Given the description of an element on the screen output the (x, y) to click on. 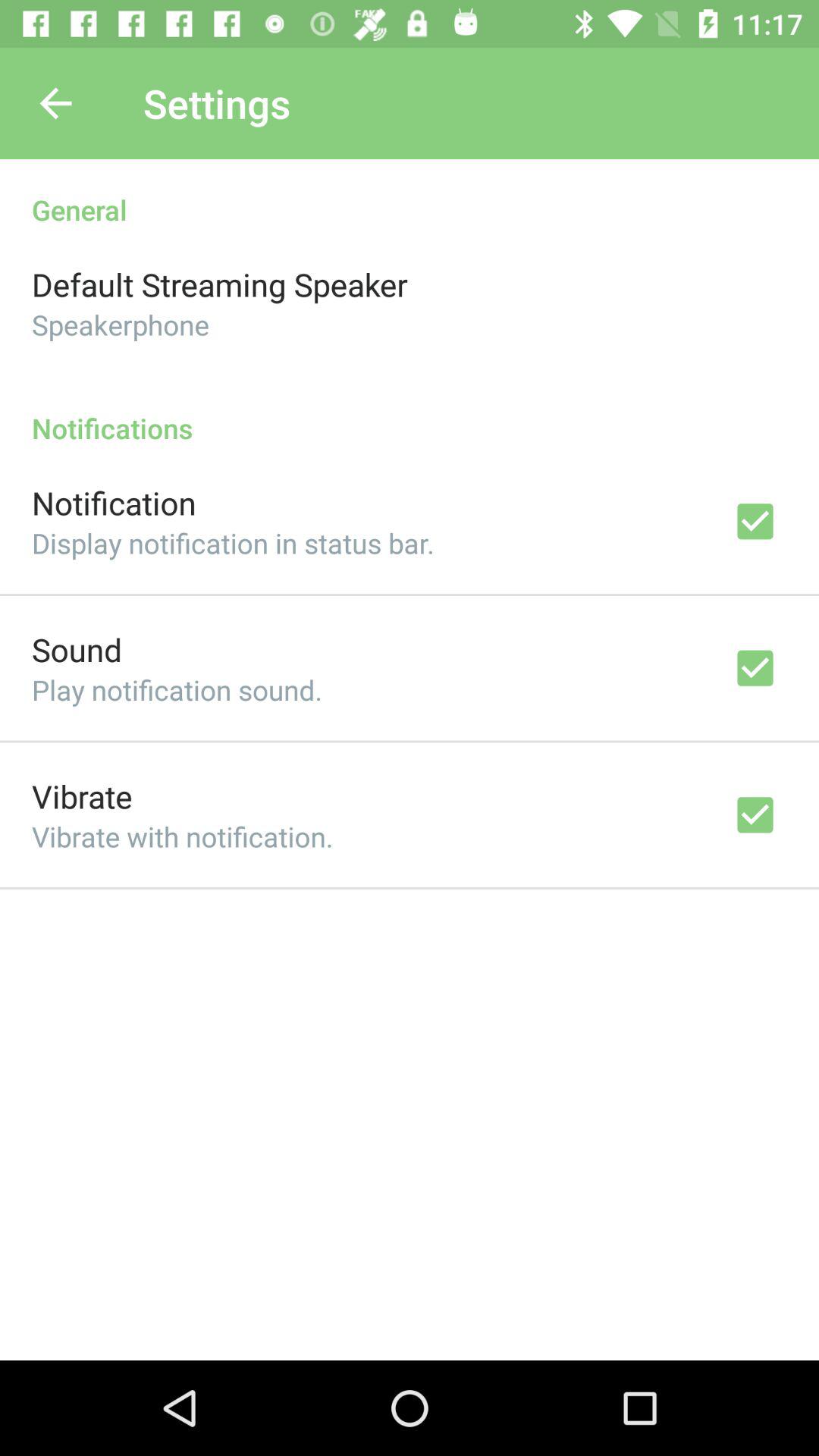
launch the icon next to the settings (55, 103)
